Given the description of an element on the screen output the (x, y) to click on. 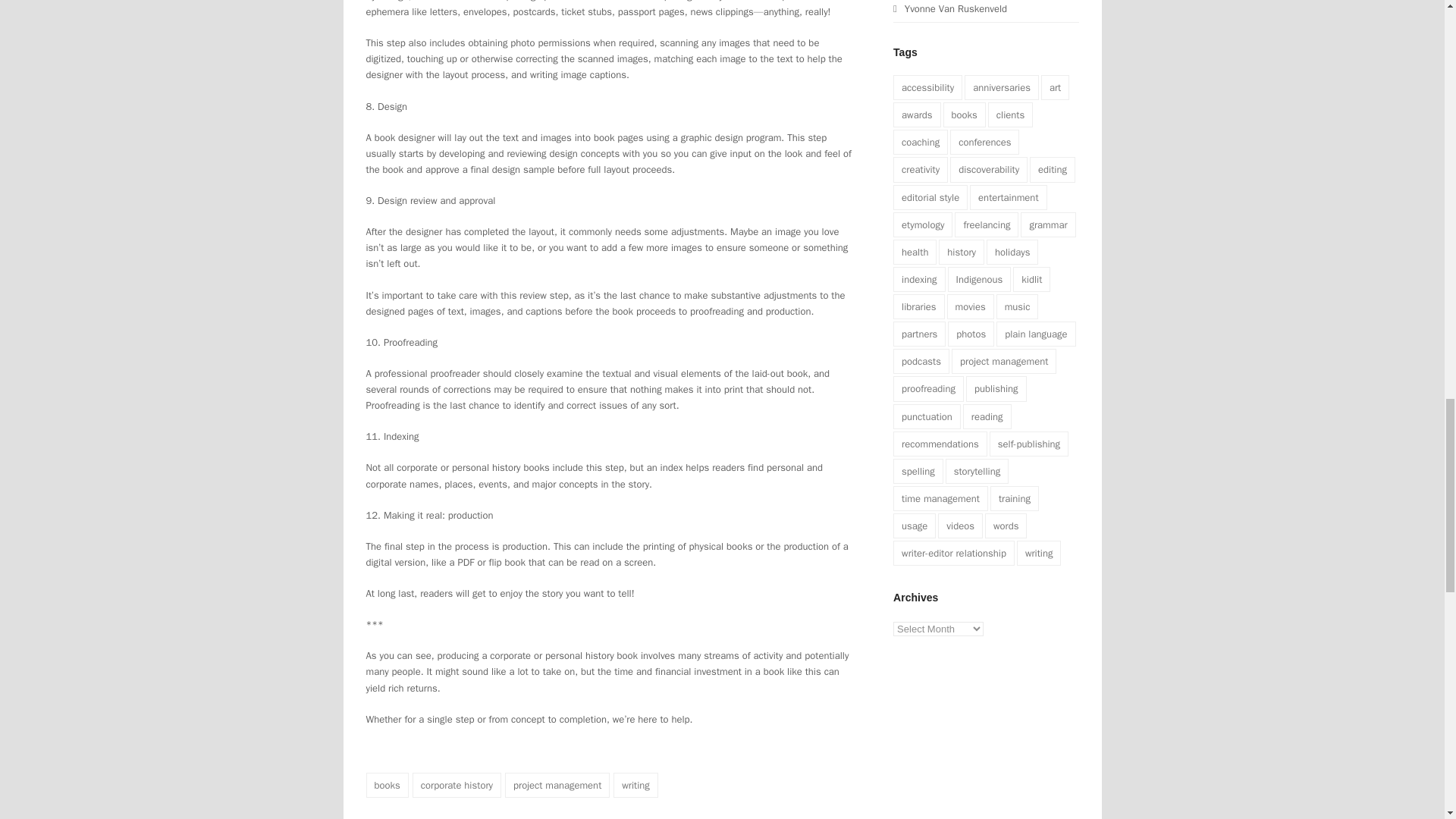
writing (635, 785)
project management (557, 785)
corporate history (456, 785)
books (386, 785)
